Given the description of an element on the screen output the (x, y) to click on. 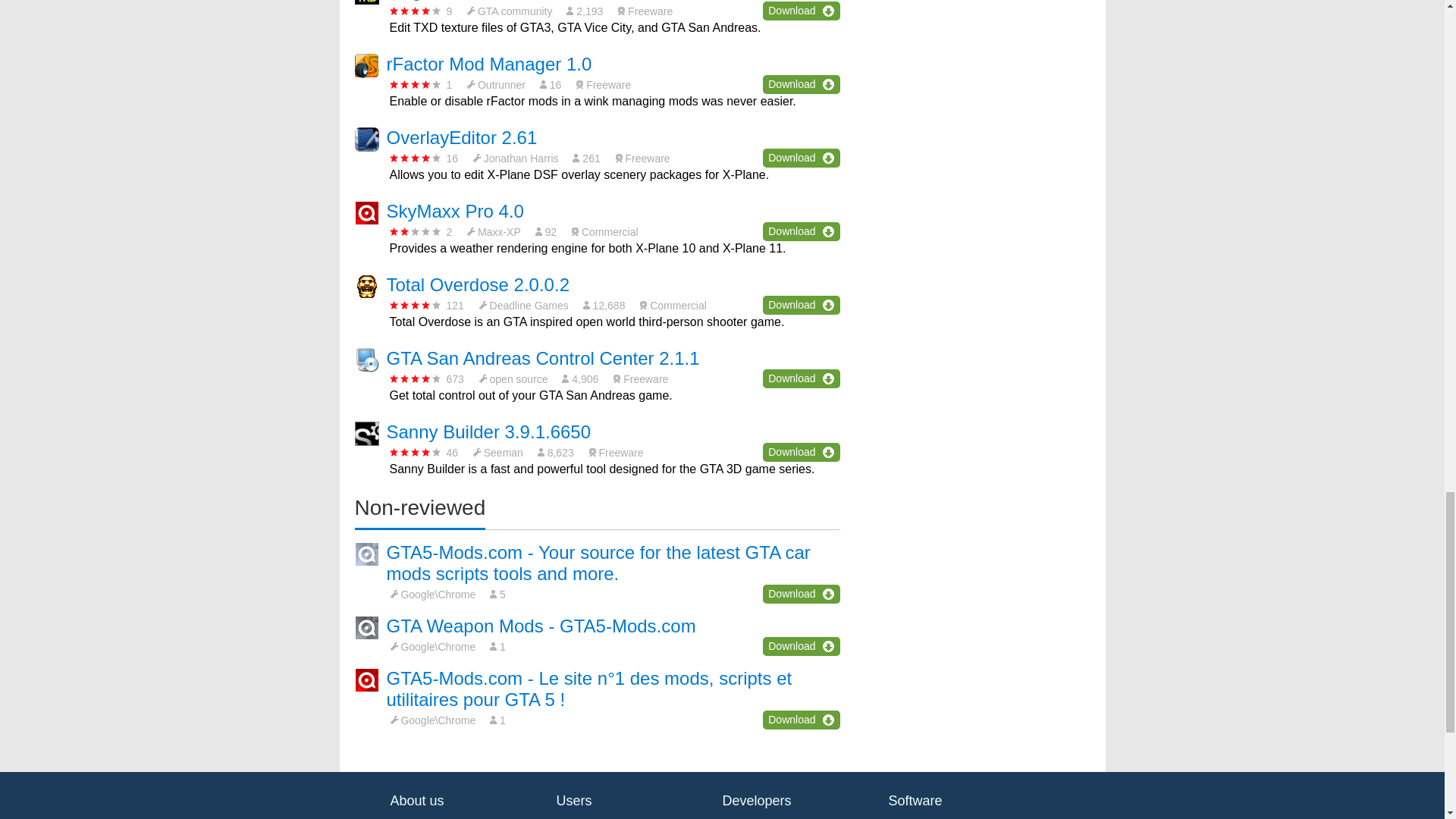
OverlayEditor 2.61 (462, 137)
Total Overdose 2.0.0.2 (478, 284)
Download (801, 157)
Download (801, 84)
Download (801, 230)
Download (801, 10)
rFactor Mod Manager 1.0 (489, 64)
Download (801, 304)
